Given the description of an element on the screen output the (x, y) to click on. 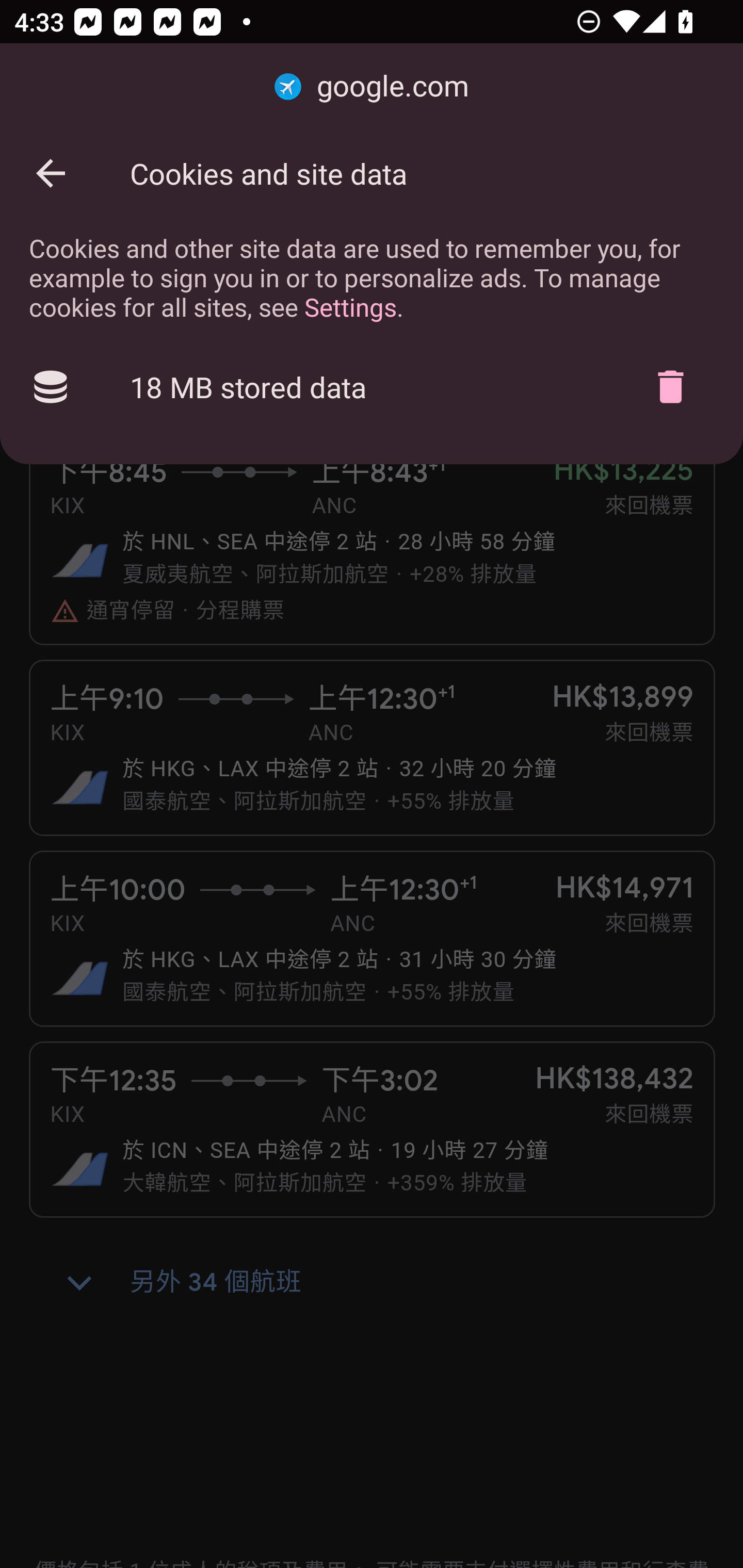
google.com (371, 86)
Back (50, 173)
18 MB stored data Delete cookies? (371, 386)
